Given the description of an element on the screen output the (x, y) to click on. 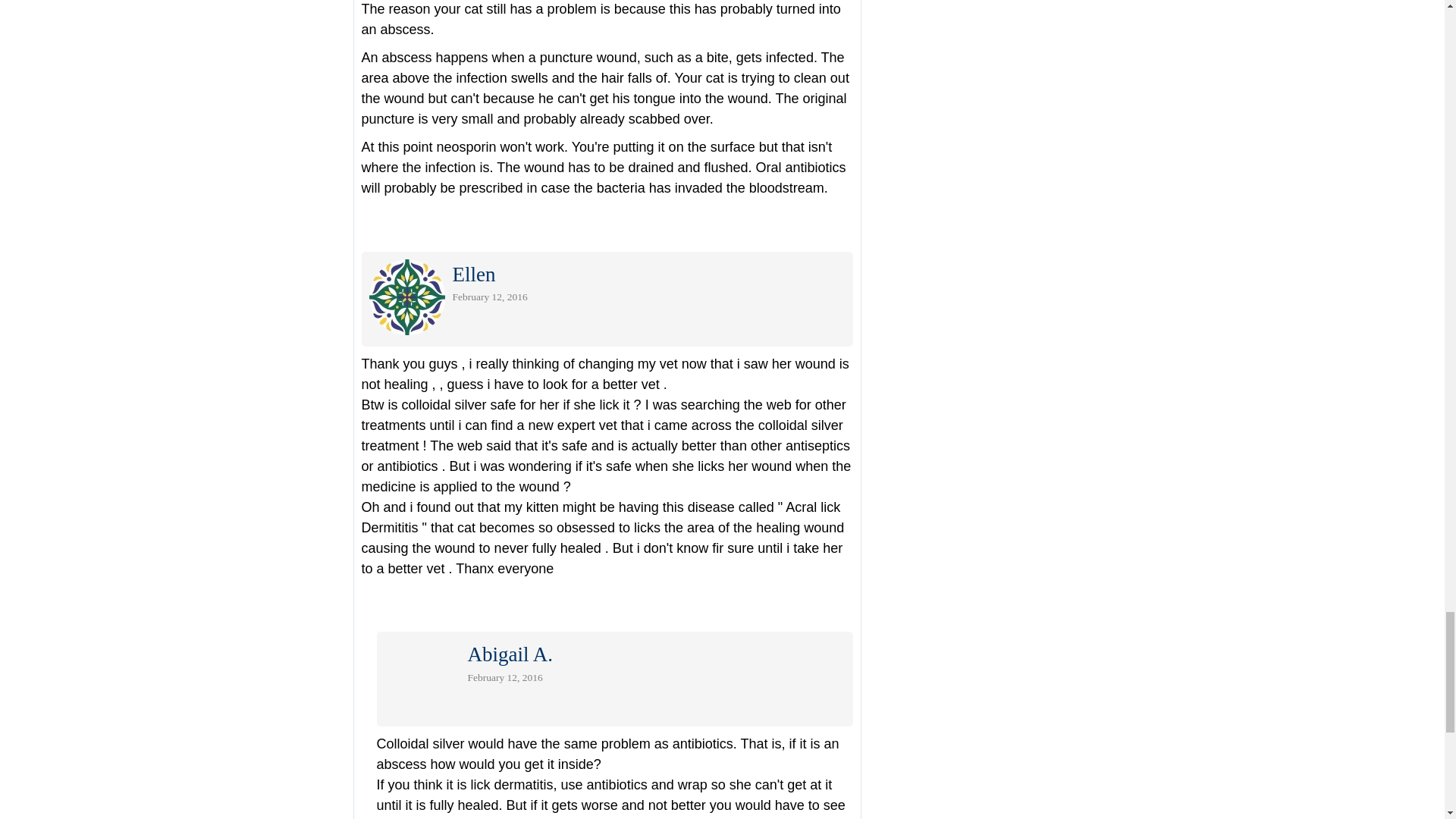
Ellen (473, 277)
